Given the description of an element on the screen output the (x, y) to click on. 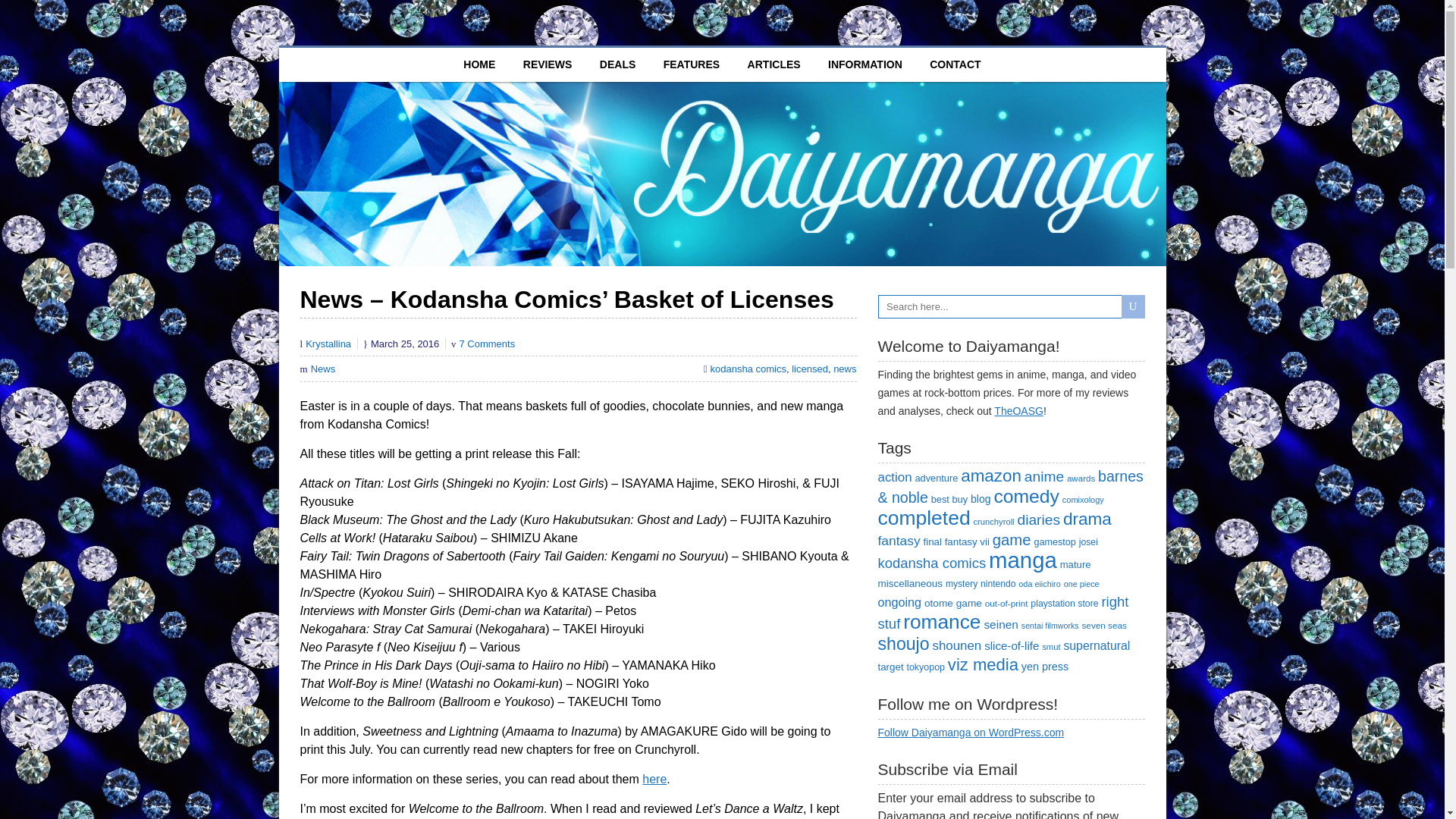
Posts by Krystallina (327, 343)
HOME (478, 64)
news (844, 368)
Krystallina (327, 343)
CONTACT (954, 64)
News (323, 368)
U (1132, 306)
INFORMATION (864, 64)
FEATURES (691, 64)
7 Comments (486, 343)
